Given the description of an element on the screen output the (x, y) to click on. 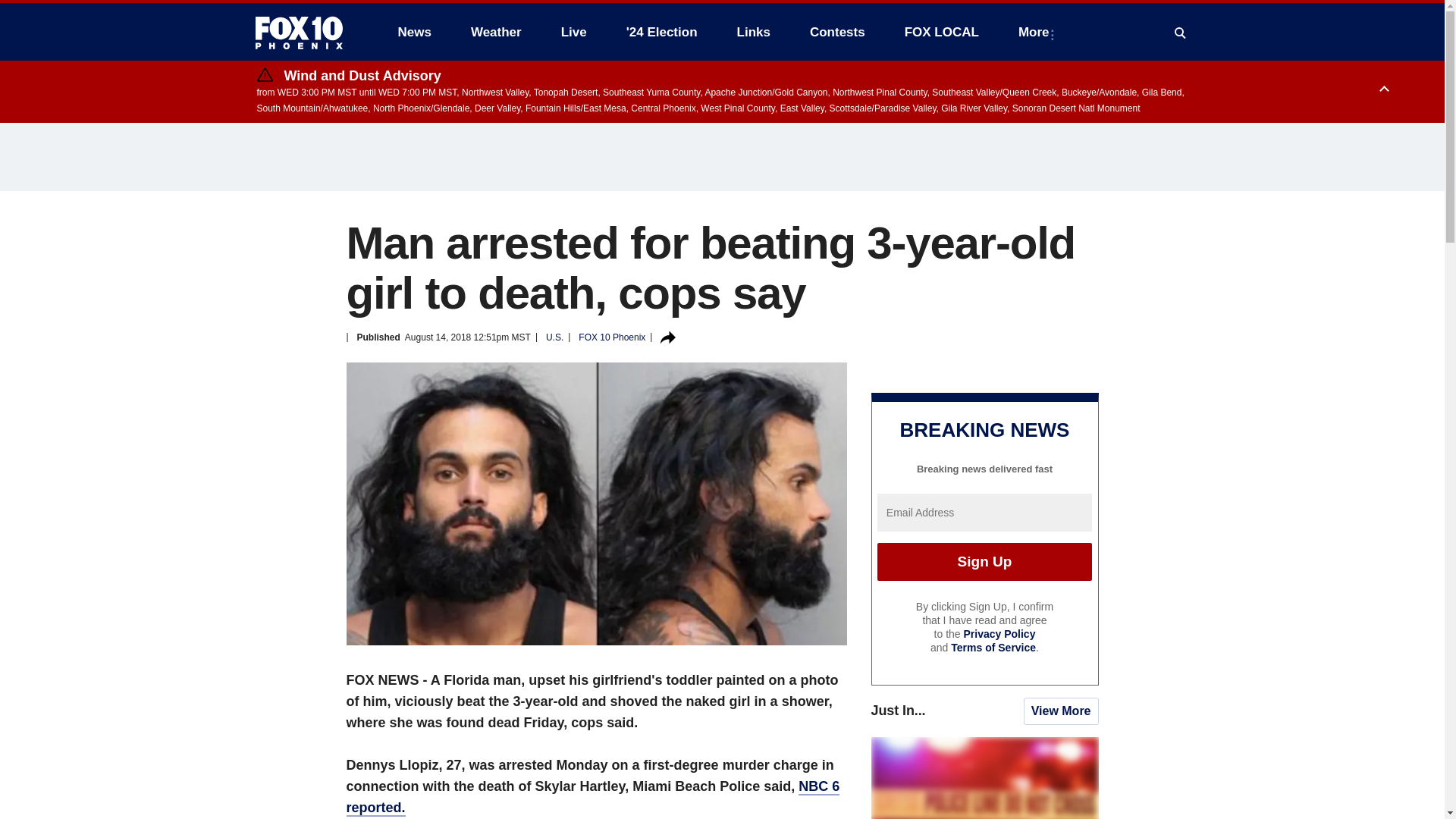
News (413, 32)
Links (754, 32)
More (1036, 32)
Weather (496, 32)
FOX LOCAL (941, 32)
Live (573, 32)
'24 Election (662, 32)
Contests (837, 32)
Sign Up (984, 561)
